Given the description of an element on the screen output the (x, y) to click on. 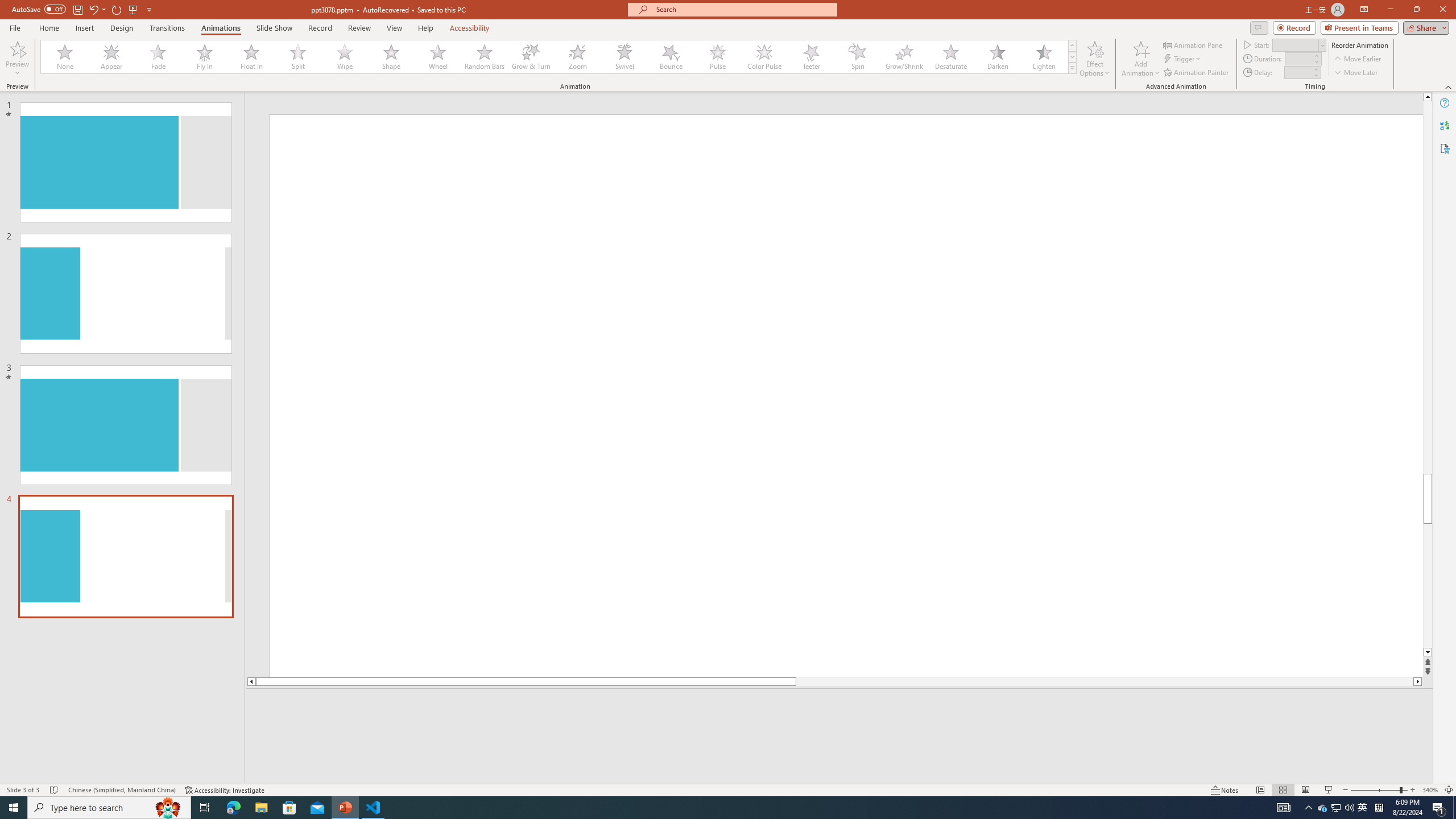
Desaturate (950, 56)
Grow/Shrink (903, 56)
Lighten (1043, 56)
Darken (997, 56)
Grow & Turn (531, 56)
